Given the description of an element on the screen output the (x, y) to click on. 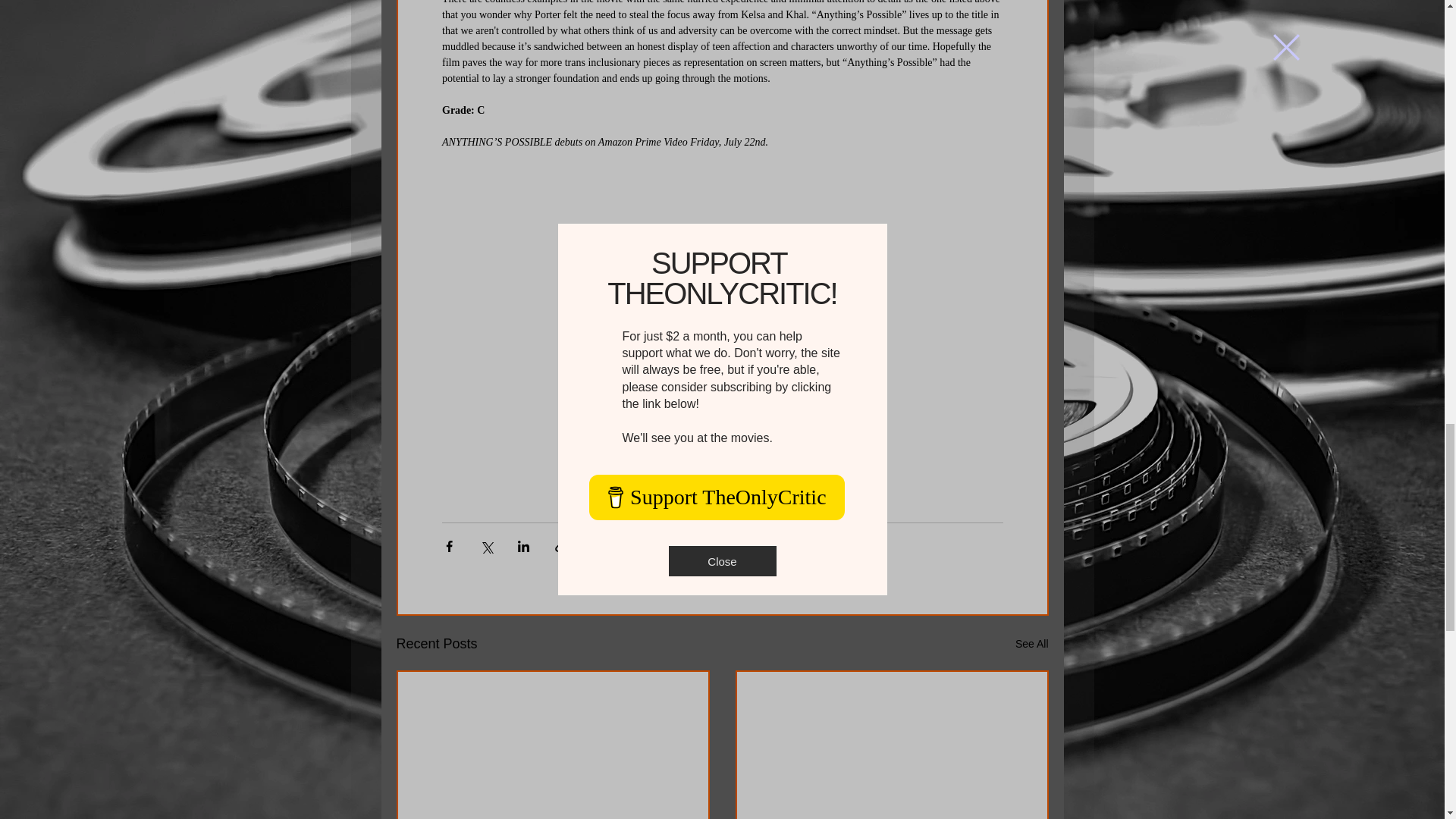
See All (1031, 644)
